Given the description of an element on the screen output the (x, y) to click on. 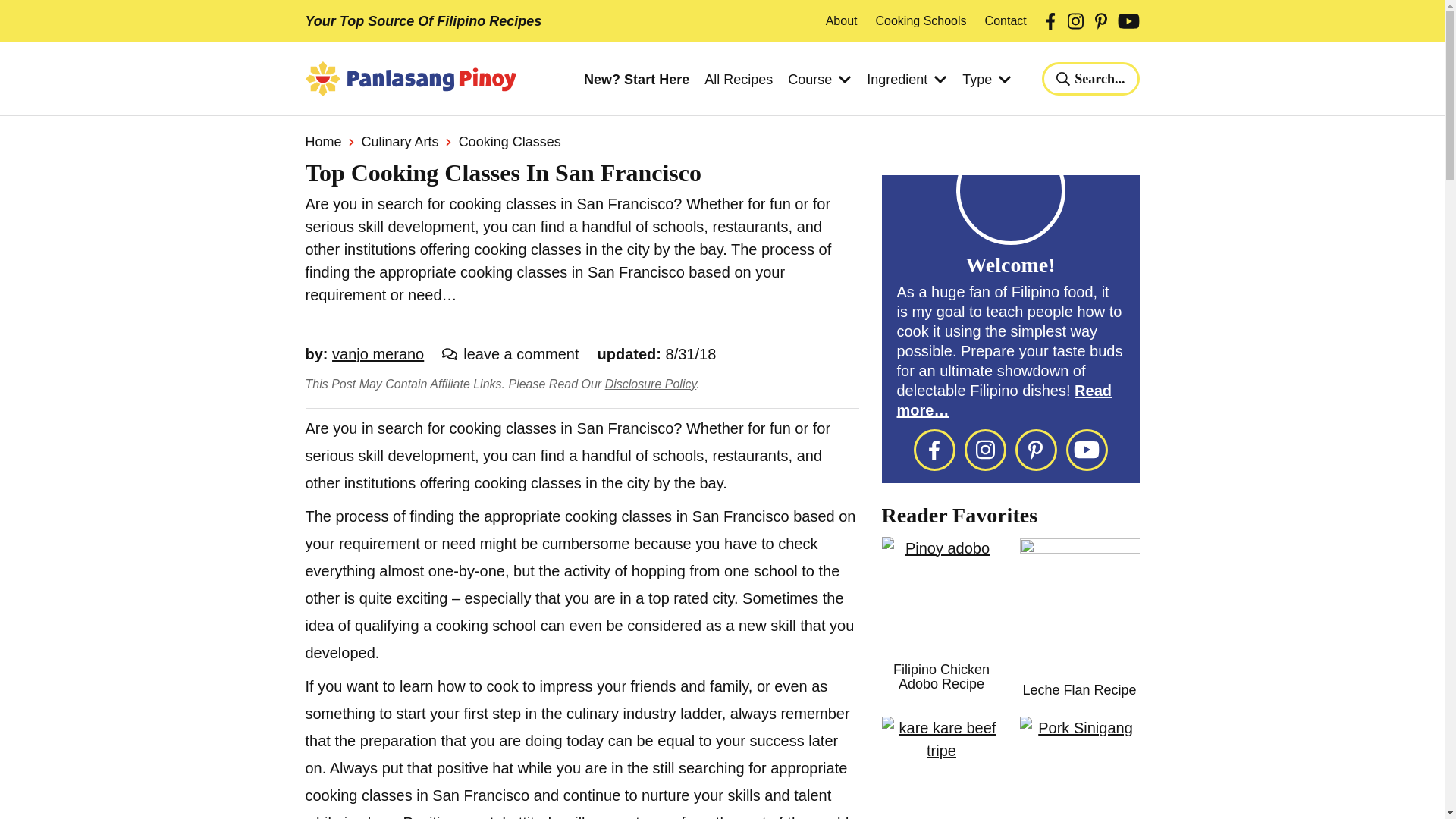
Cooking Classes (509, 141)
About (841, 21)
Your Top Source Of Filipino Recipes (422, 20)
Search... (1090, 78)
Culinary Arts (400, 141)
Cooking Schools (920, 21)
Panlasang Pinoy (409, 78)
New? Start Here (635, 80)
YouTube (1129, 21)
